Given the description of an element on the screen output the (x, y) to click on. 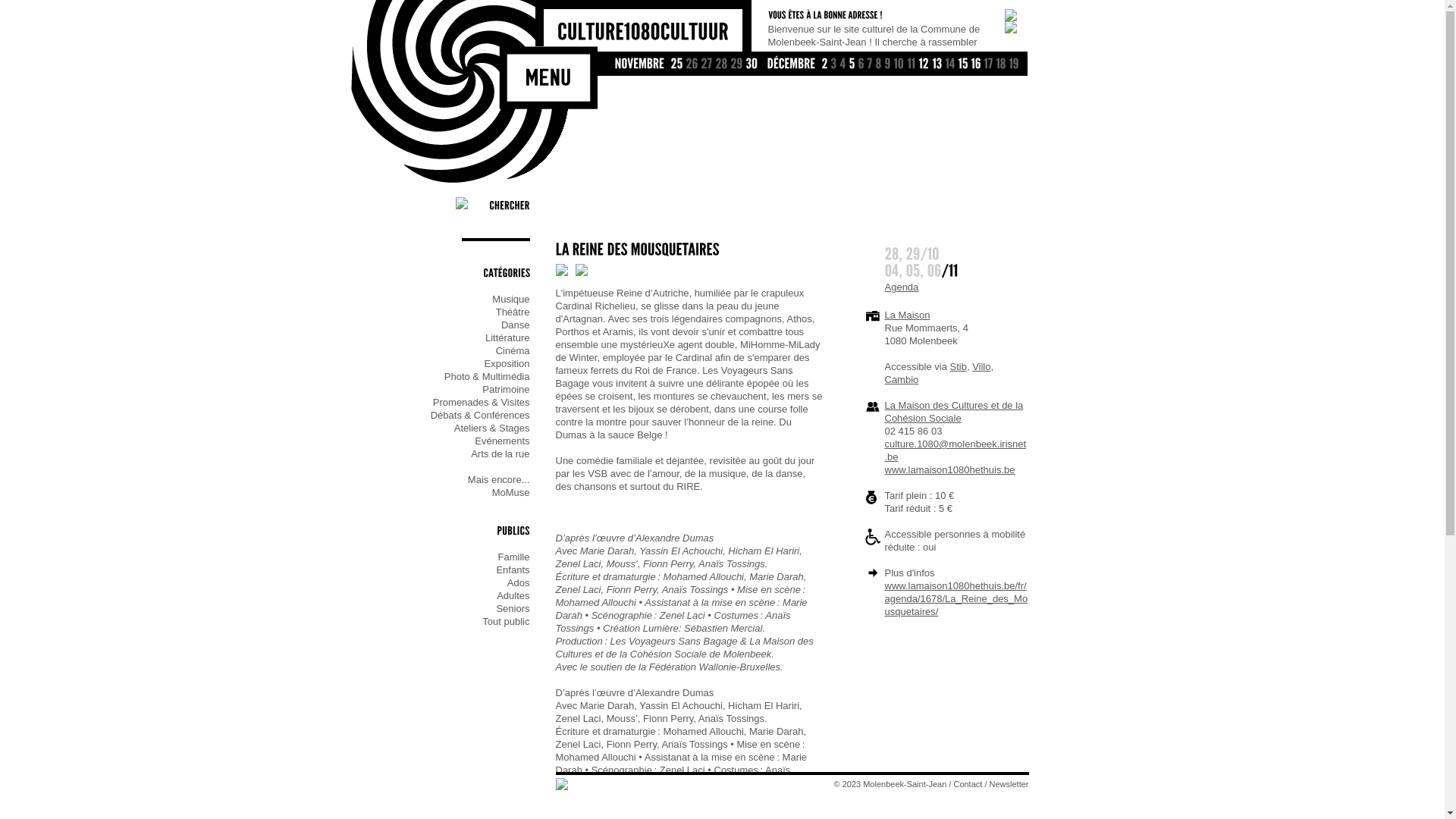
Tout public Element type: text (439, 621)
MoMuse Element type: text (439, 492)
La Maison Element type: text (906, 314)
Cambio Element type: text (901, 379)
Promenades & Visites Element type: text (439, 401)
Seniors Element type: text (439, 608)
Ados Element type: text (439, 582)
Famille Element type: text (439, 556)
Ateliers & Stages Element type: text (439, 427)
Arts de la rue Element type: text (439, 453)
Contact Element type: text (967, 783)
Patrimoine Element type: text (439, 388)
Agenda Element type: text (901, 286)
Danse Element type: text (439, 324)
Newsletter Element type: text (1009, 783)
Villo Element type: text (981, 366)
Adultes Element type: text (439, 595)
Stib Element type: text (957, 366)
Exposition Element type: text (439, 363)
www.lamaison1080hethuis.be Element type: text (949, 469)
Mais encore... Element type: text (439, 479)
Enfants Element type: text (439, 569)
culture.1080@molenbeek.irisnet.be Element type: text (955, 450)
Musique Element type: text (439, 298)
